Given the description of an element on the screen output the (x, y) to click on. 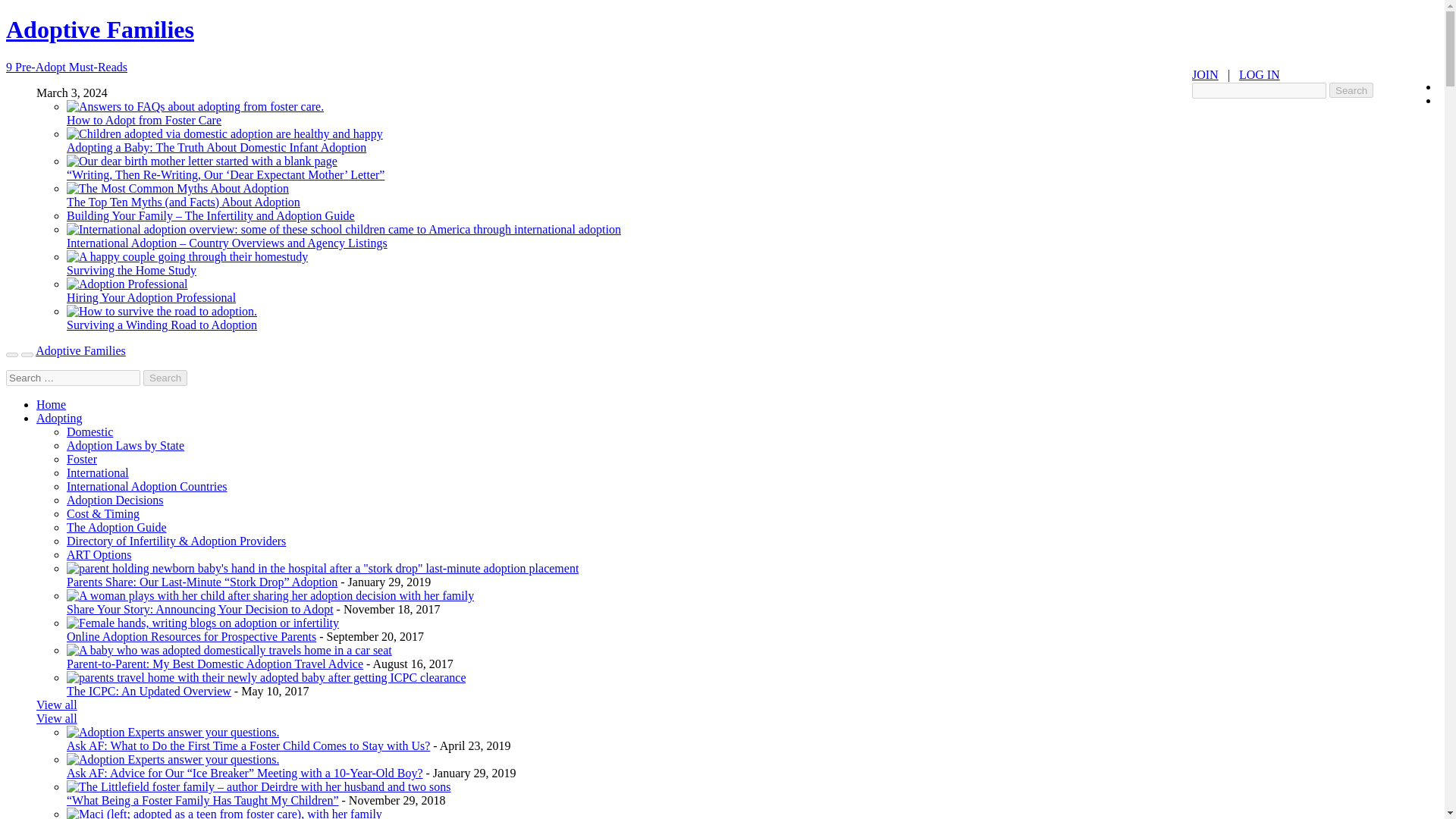
International Adoption Countries (146, 486)
Adopting a Baby: The Truth About Domestic Infant Adoption (216, 146)
Surviving the Home Study (131, 269)
Domestic (89, 431)
Surviving the Home Study (131, 269)
Adopting (58, 418)
Foster (81, 459)
JOIN (1205, 74)
Home (50, 404)
Adoption Decisions (114, 499)
